Given the description of an element on the screen output the (x, y) to click on. 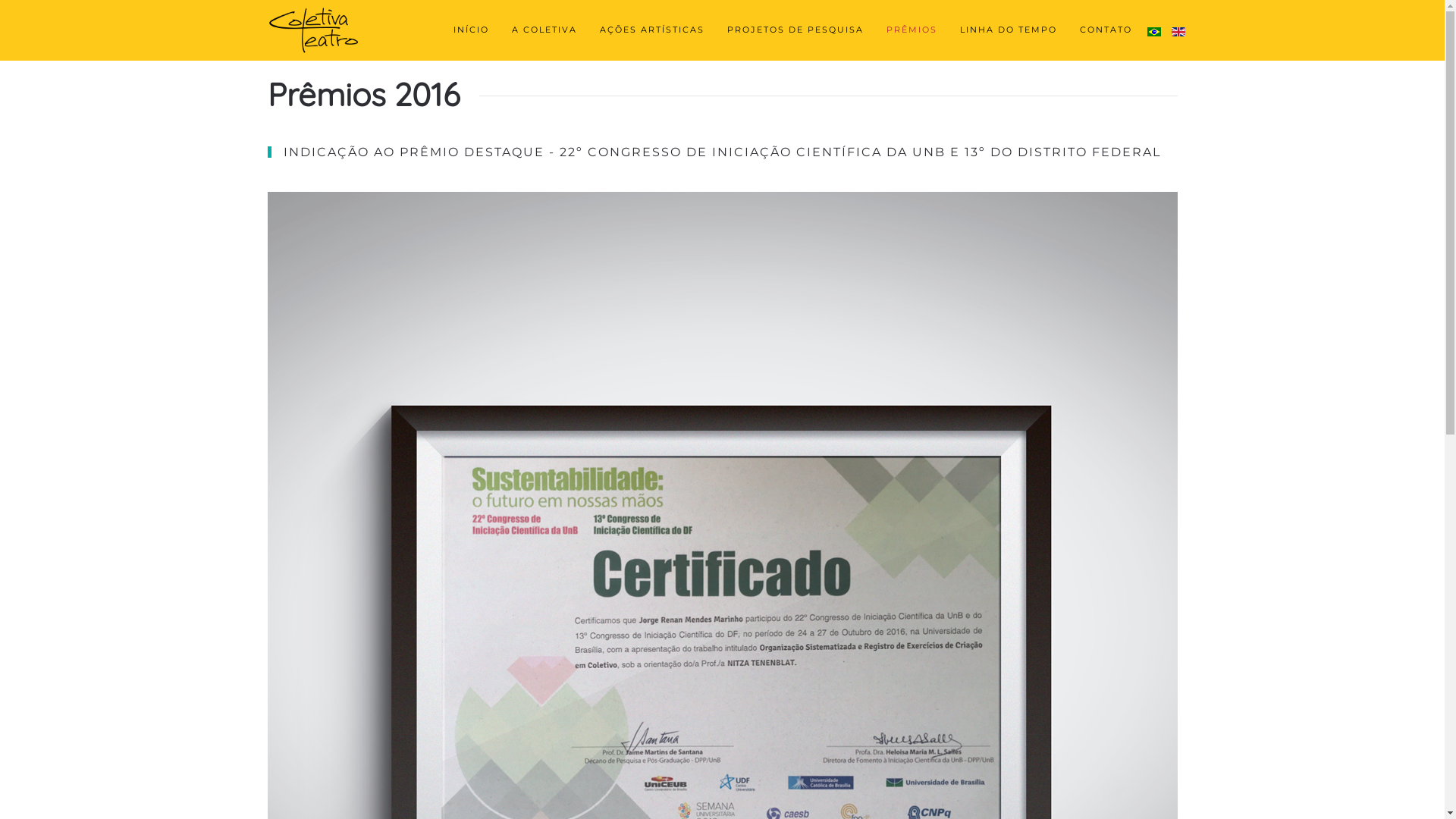
CONTATO Element type: text (1104, 30)
English (United Kingdom) Element type: hover (1177, 31)
PROJETOS DE PESQUISA Element type: text (795, 30)
A COLETIVA Element type: text (544, 30)
LINHA DO TEMPO Element type: text (1007, 30)
